Given the description of an element on the screen output the (x, y) to click on. 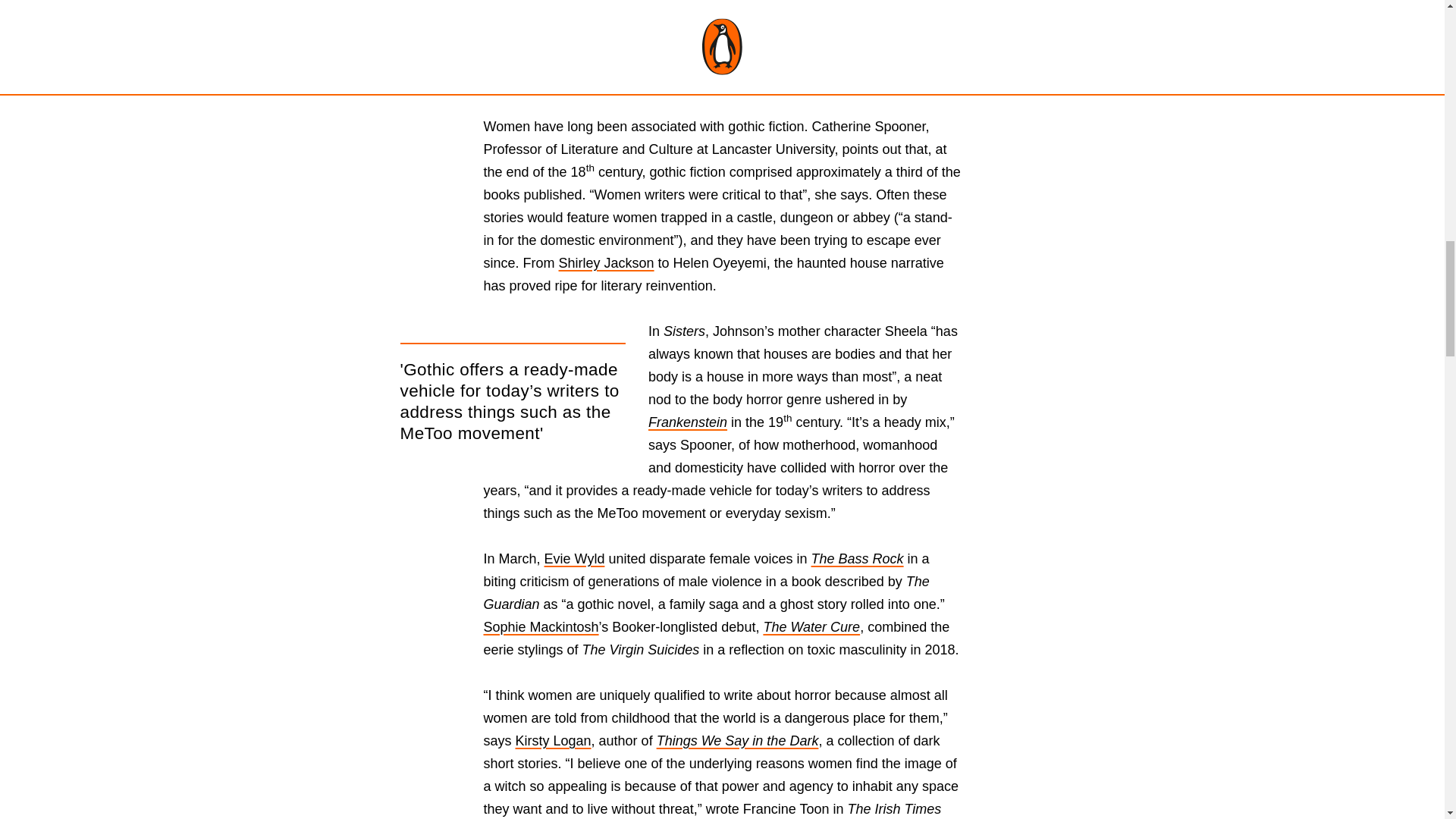
Things We Say in the Dark (737, 740)
Shirley Jackson (606, 263)
Sophie Mackintosh (540, 626)
Evie Wyld (574, 558)
The Bass Rock (857, 558)
Frankenstein (686, 421)
The Water Cure (811, 626)
Kirsty Logan (553, 740)
